Given the description of an element on the screen output the (x, y) to click on. 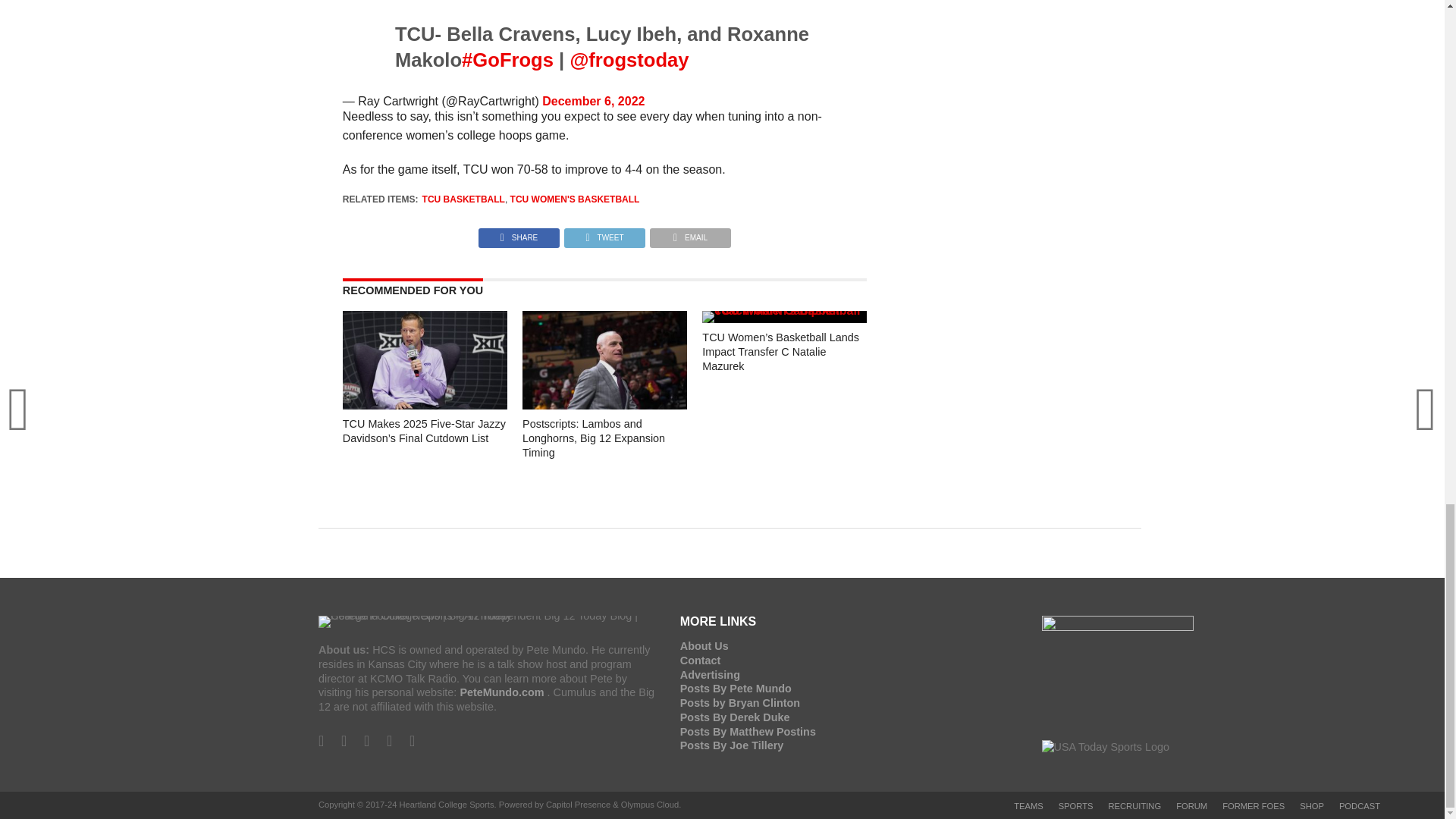
Postscripts: Lambos and Longhorns, Big 12 Expansion Timing (604, 404)
Tweet This Post (604, 233)
Share on Facebook (519, 233)
